Given the description of an element on the screen output the (x, y) to click on. 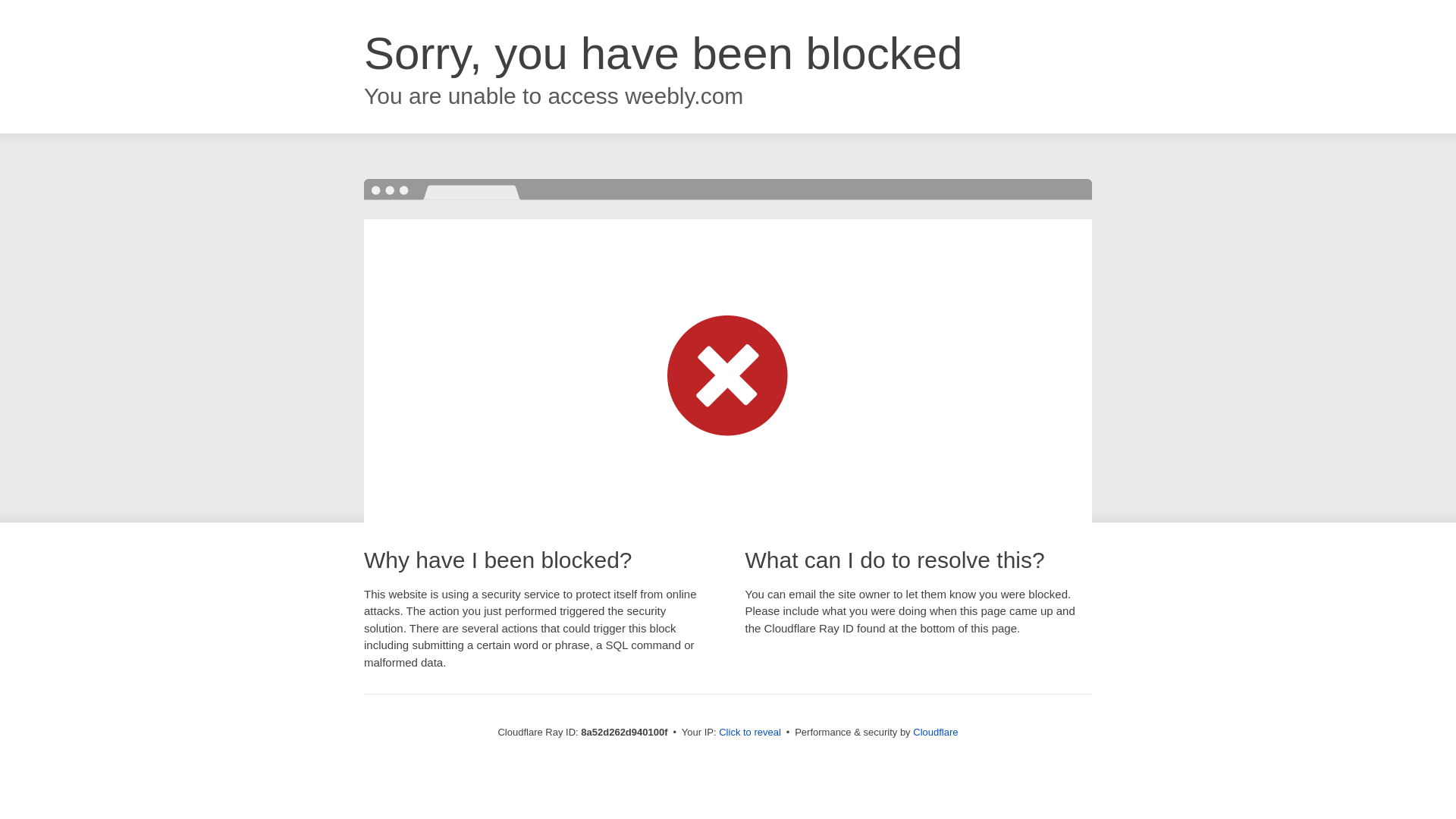
Click to reveal (749, 732)
Cloudflare (935, 731)
